Given the description of an element on the screen output the (x, y) to click on. 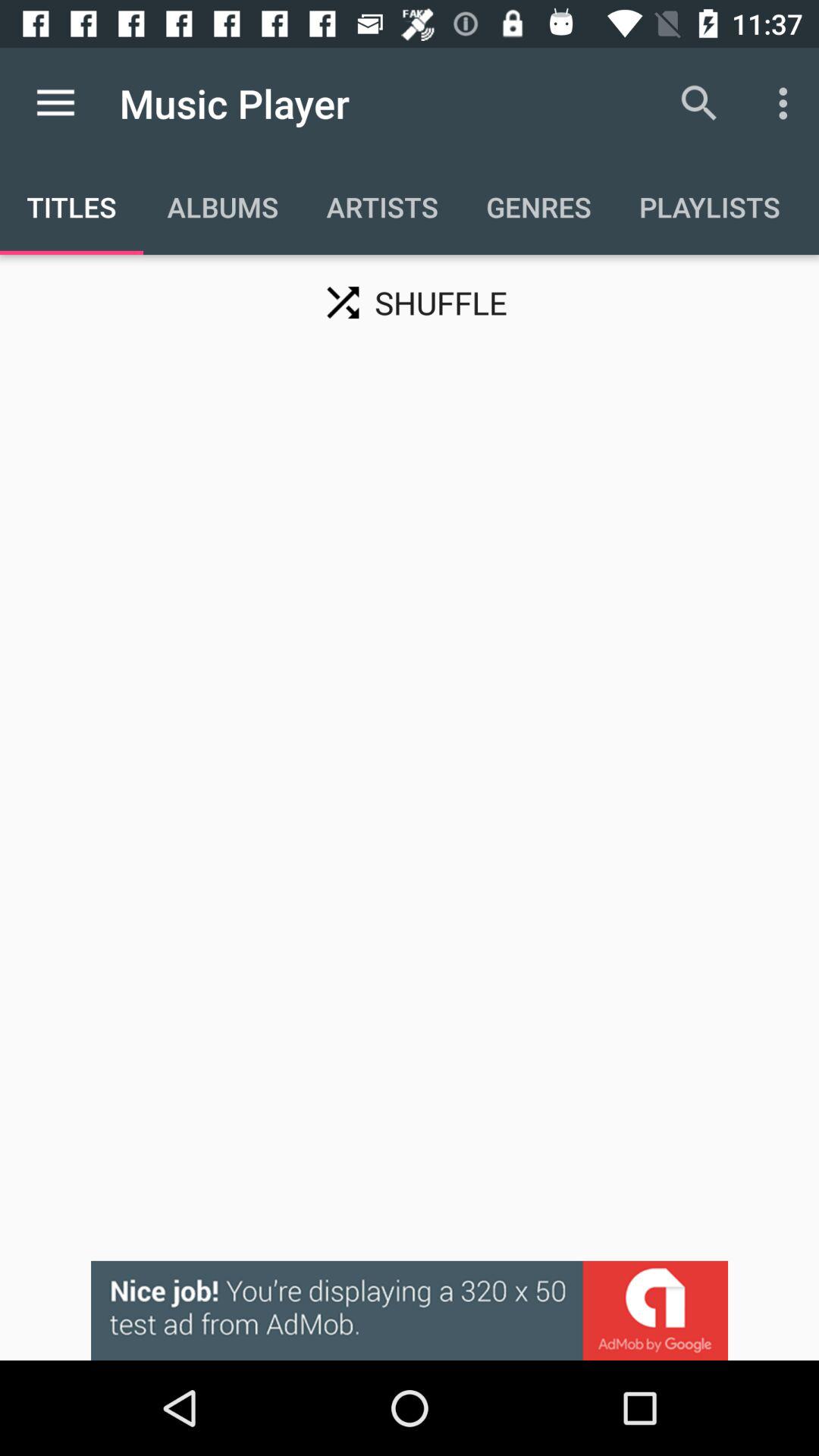
click menu option (55, 103)
